Given the description of an element on the screen output the (x, y) to click on. 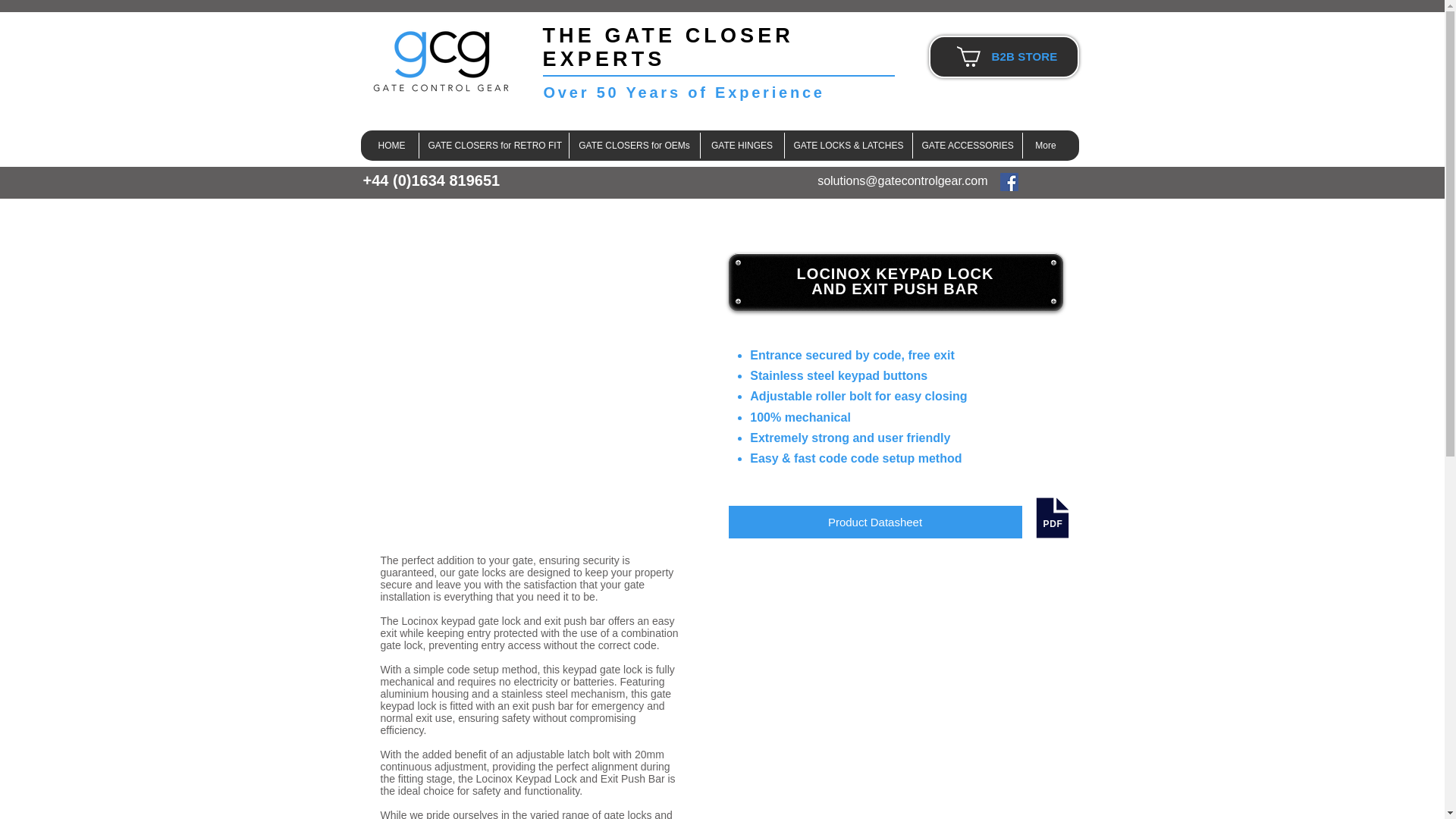
GATE CLOSERS for OEMs (633, 145)
THE GATE CLOSER EXPERTS (668, 47)
External YouTube (895, 640)
Over 50 Years of Experience (683, 92)
gate locks (627, 814)
B2B STORE (1024, 56)
GATE ACCESSORIES (967, 145)
GATE HINGES (742, 145)
HOME (392, 145)
GATE CLOSERS for RETRO FIT (493, 145)
